Given the description of an element on the screen output the (x, y) to click on. 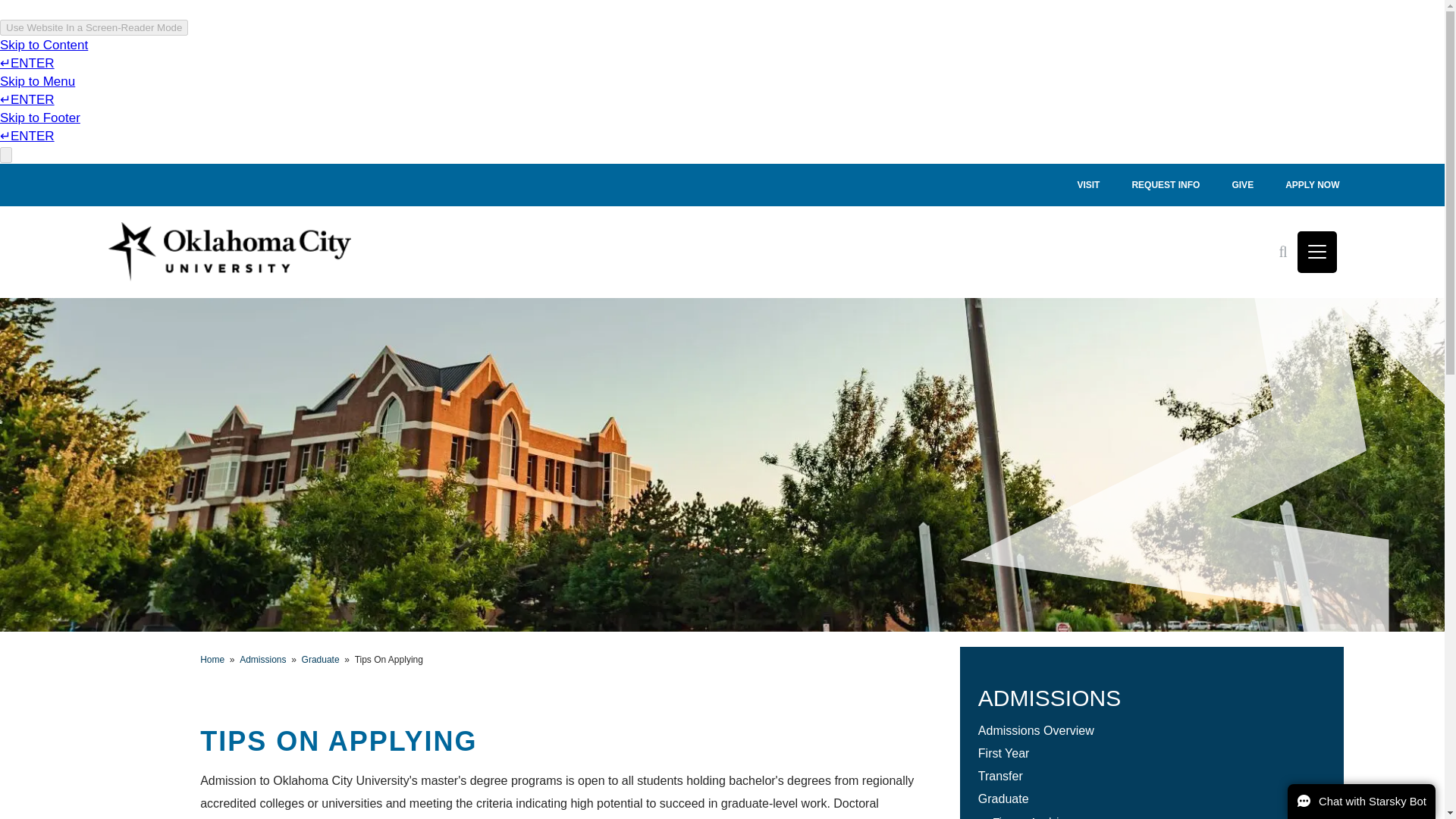
GIVE (1242, 184)
APPLY NOW (1311, 184)
REQUEST INFO (1165, 184)
VISIT (1088, 184)
